Given the description of an element on the screen output the (x, y) to click on. 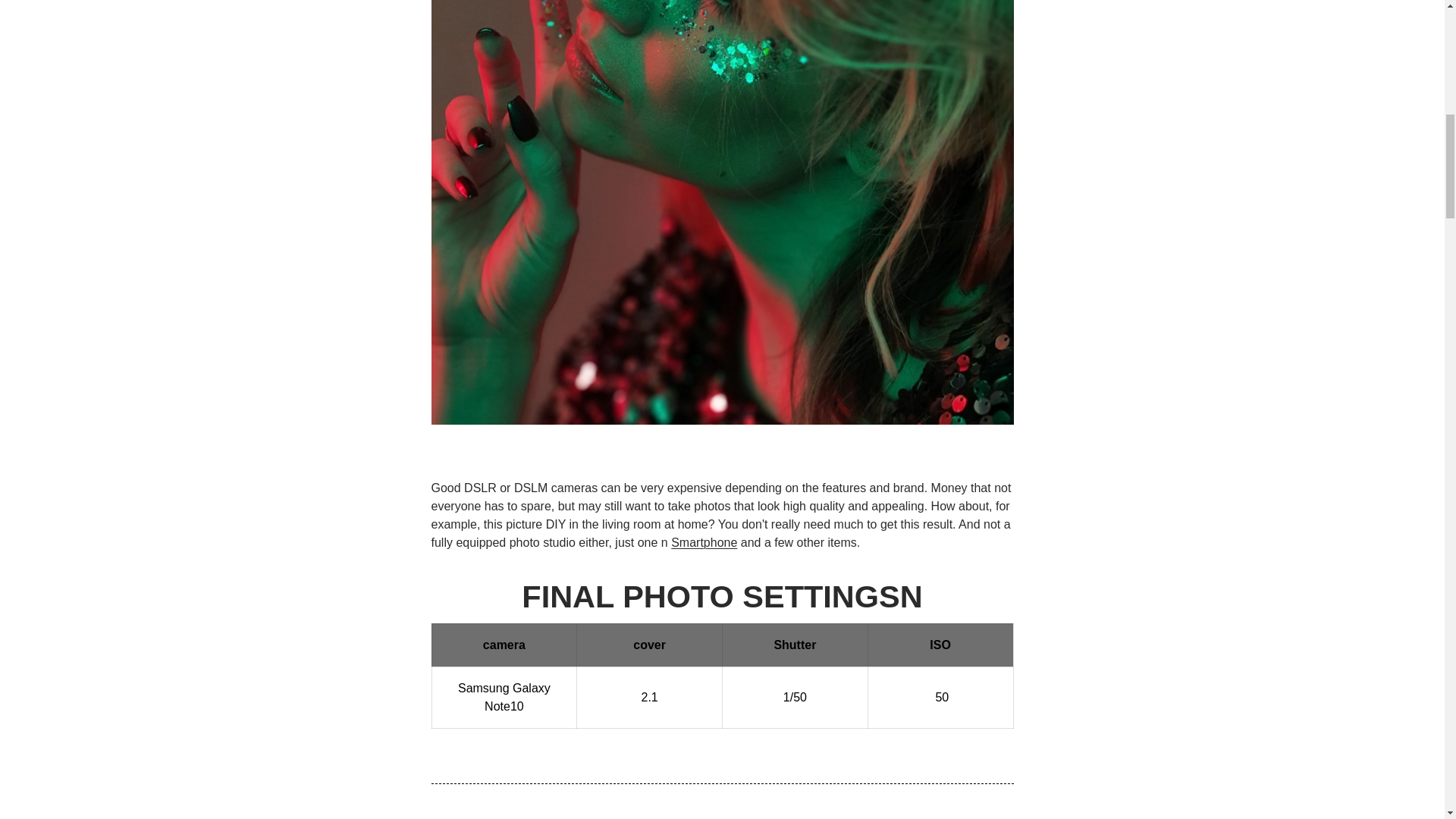
Rollei Smartphone-Stative (703, 542)
